Given the description of an element on the screen output the (x, y) to click on. 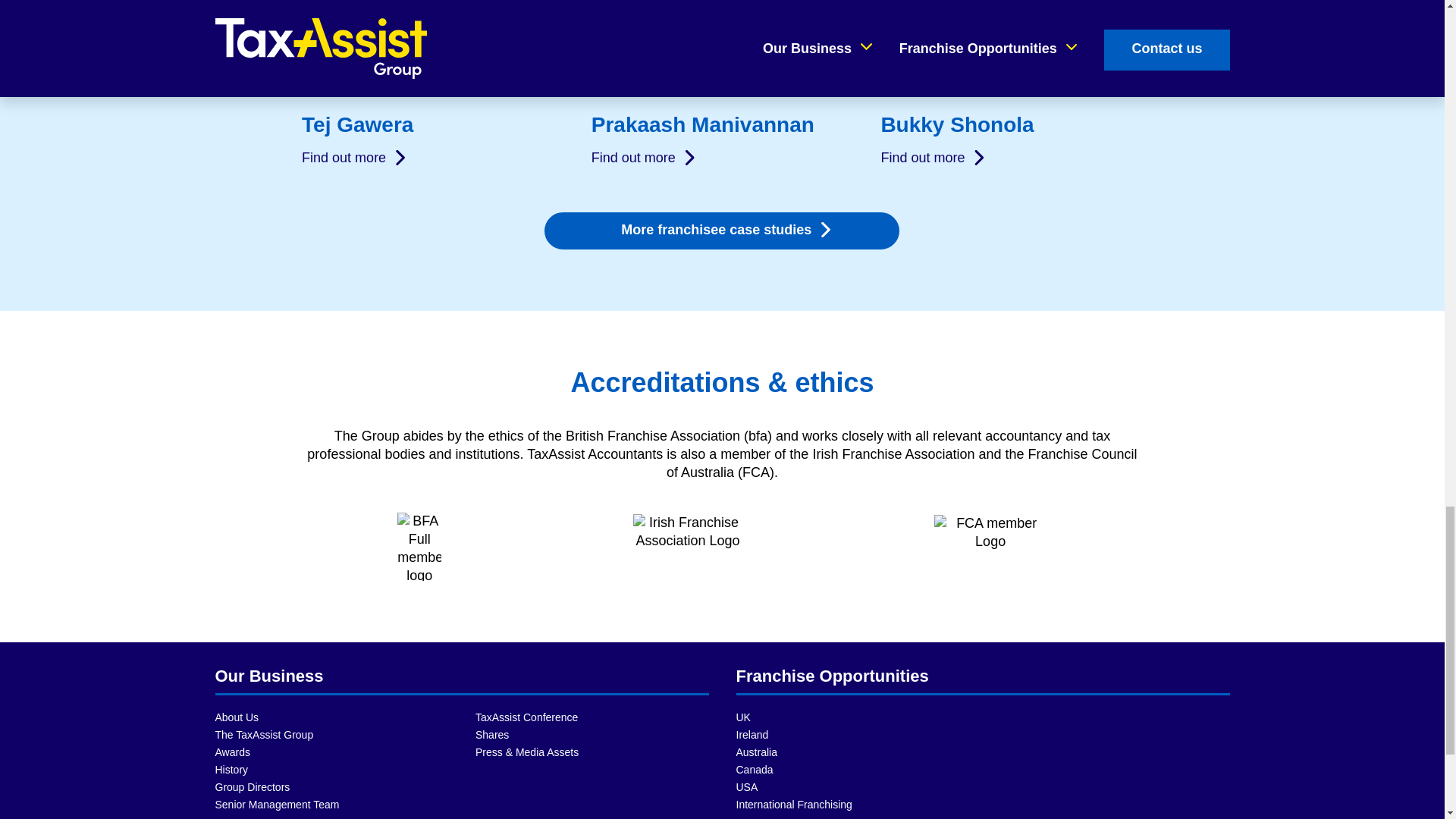
Find out more (644, 157)
Find out more (933, 157)
More franchisee case studies (721, 230)
Awards (331, 752)
History (331, 769)
About Us (331, 717)
TaxAssist Conference (592, 717)
Find out more (354, 157)
Senior Management Team (331, 805)
Group Directors (331, 787)
